Given the description of an element on the screen output the (x, y) to click on. 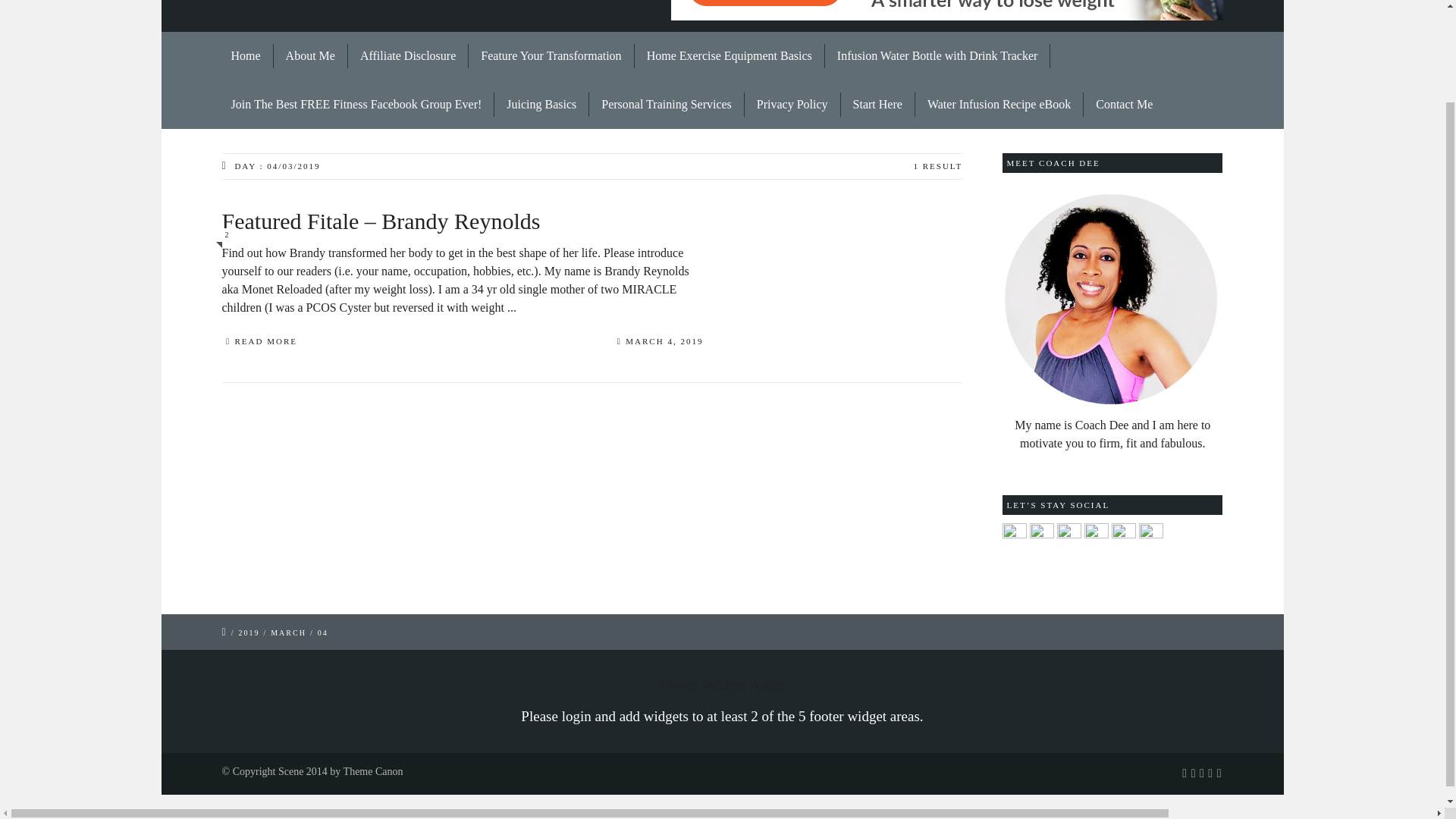
Twitter (1150, 533)
Instagram (1041, 533)
READ MORE (259, 343)
Privacy Policy (792, 104)
About Me (310, 55)
Water Infusion Recipe eBook (999, 104)
Youtube (1096, 533)
MARCH (287, 632)
Facebook (1014, 533)
Theme Canon (373, 771)
Home (245, 55)
2019 (248, 632)
Pinterest (1069, 533)
Infusion Water Bottle with Drink Tracker (938, 55)
Contact Me (1118, 104)
